Given the description of an element on the screen output the (x, y) to click on. 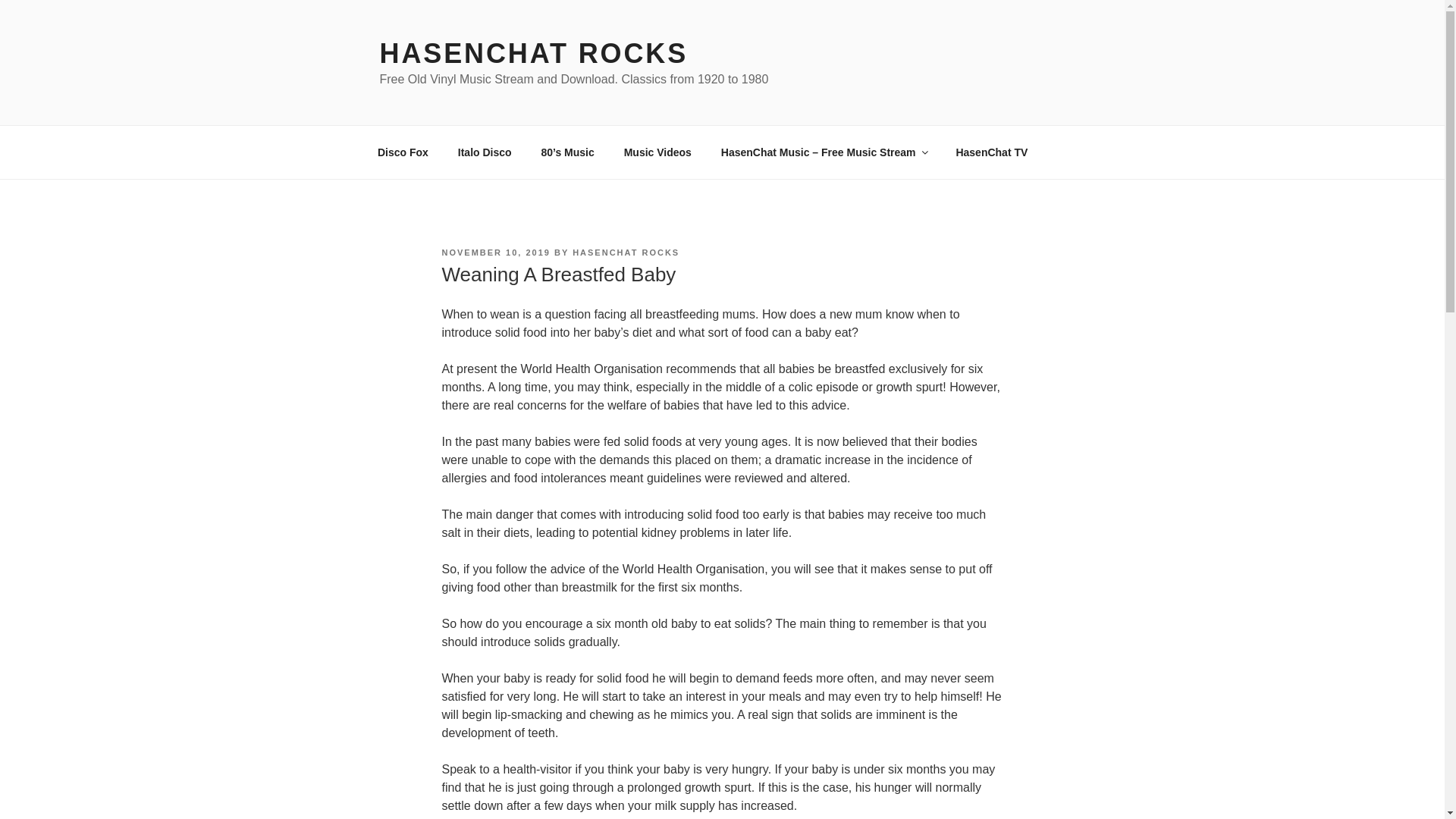
HASENCHAT ROCKS (532, 52)
Music Videos (657, 151)
Italo Disco (484, 151)
HasenChat TV (991, 151)
HASENCHAT ROCKS (625, 252)
NOVEMBER 10, 2019 (495, 252)
Disco Fox (402, 151)
